Given the description of an element on the screen output the (x, y) to click on. 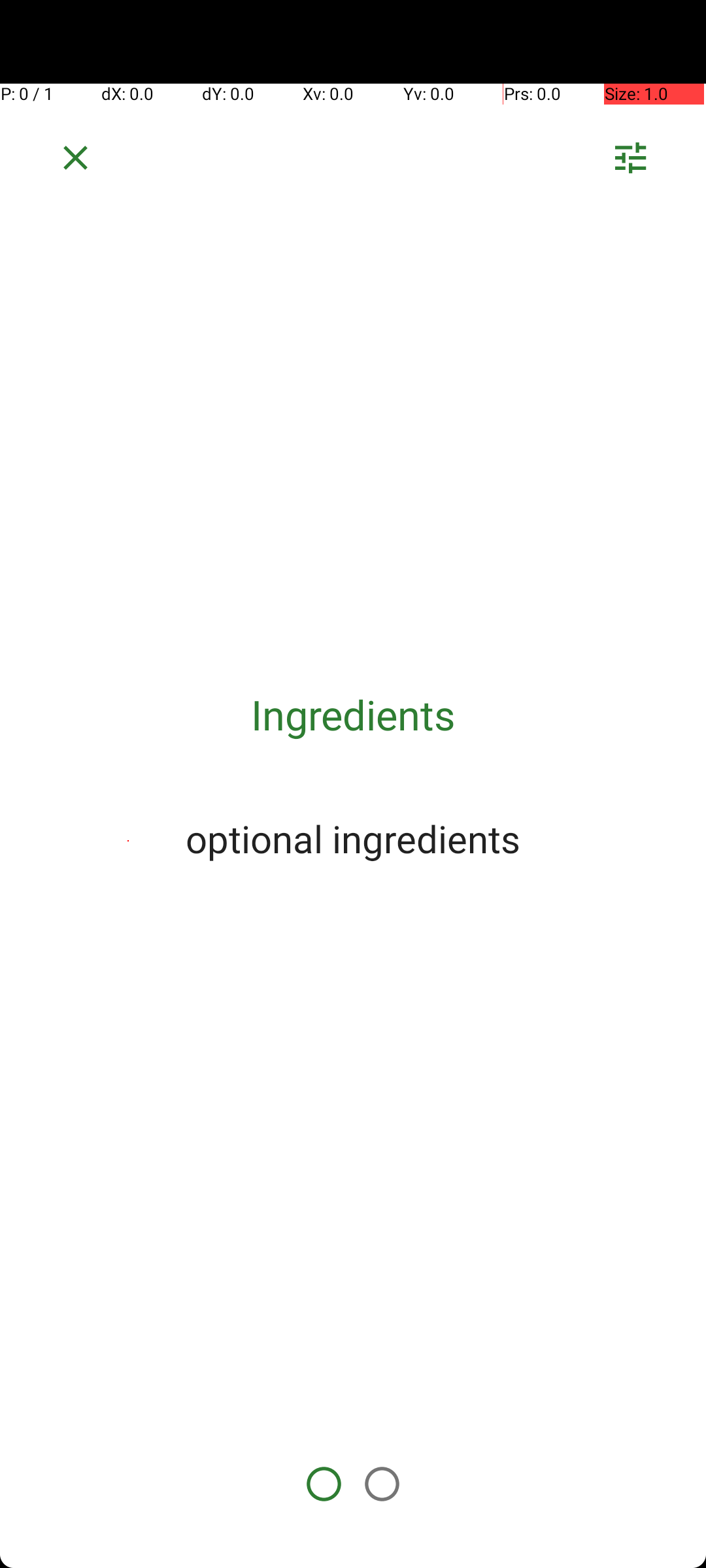
optional ingredients Element type: android.widget.TextView (353, 838)
